Given the description of an element on the screen output the (x, y) to click on. 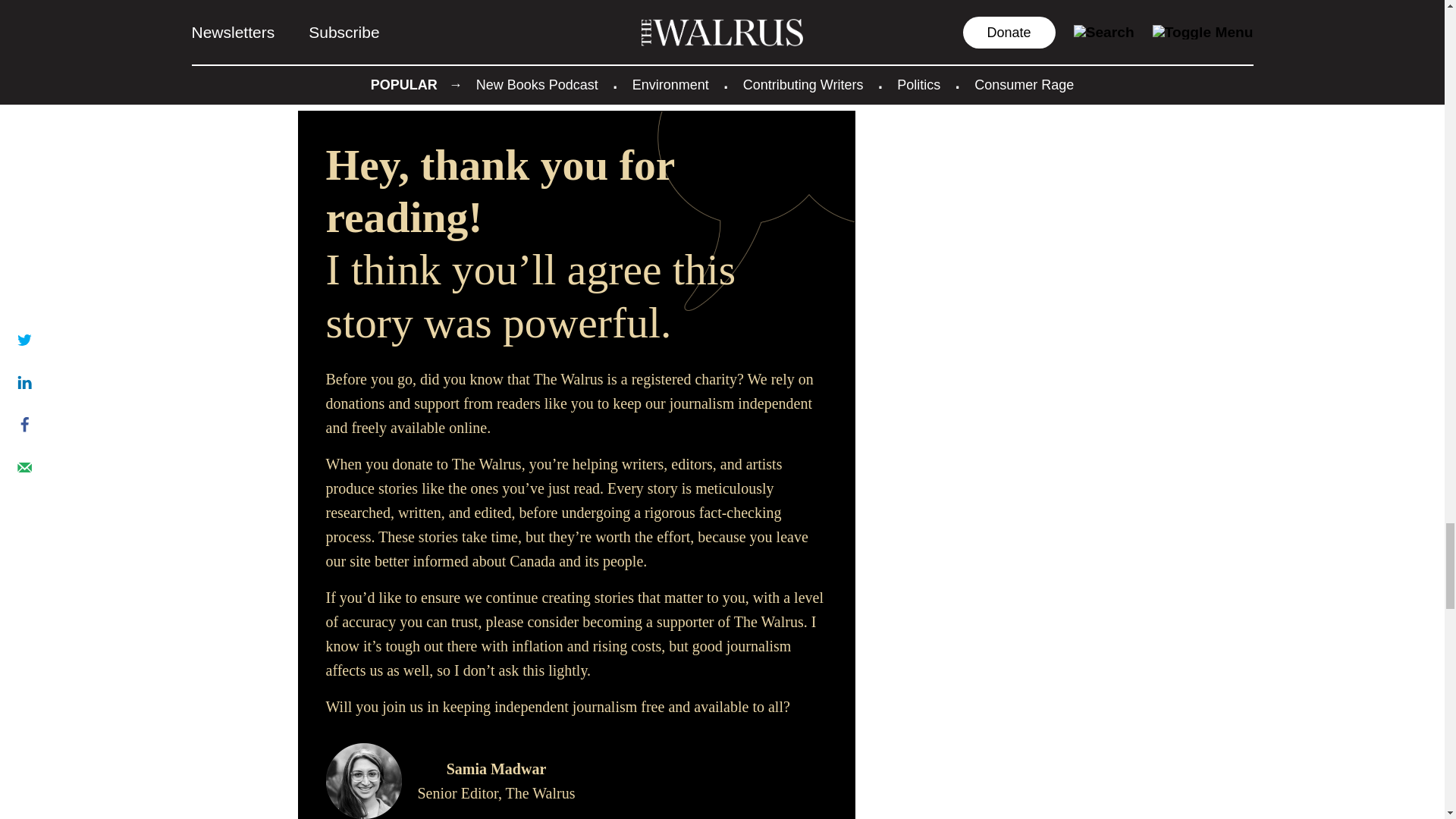
Martin Patriquin (440, 31)
